Given the description of an element on the screen output the (x, y) to click on. 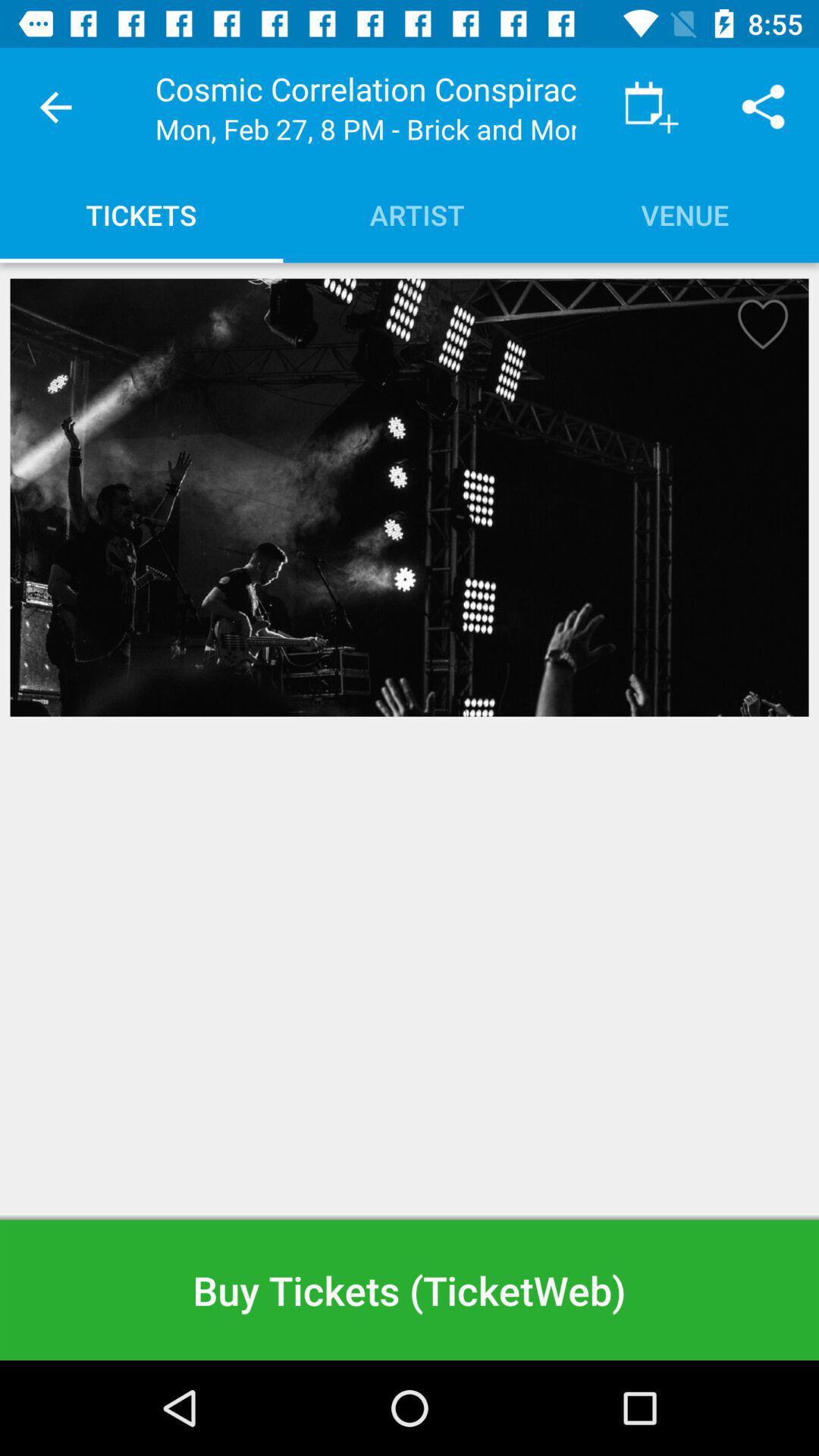
click the icon next to the cosmic correlation conspiracy item (651, 107)
